Given the description of an element on the screen output the (x, y) to click on. 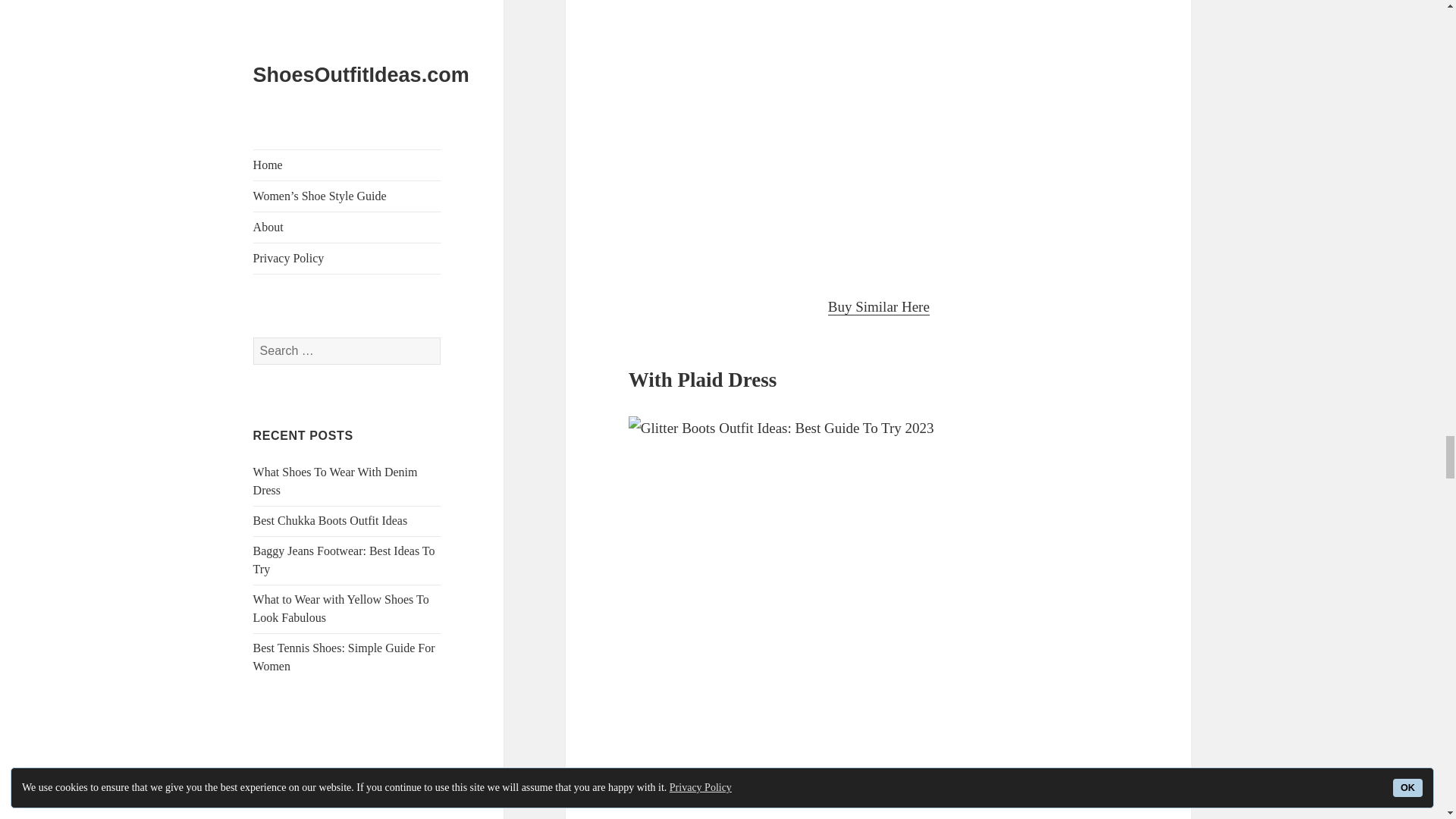
Buy Similar Here (879, 306)
